Given the description of an element on the screen output the (x, y) to click on. 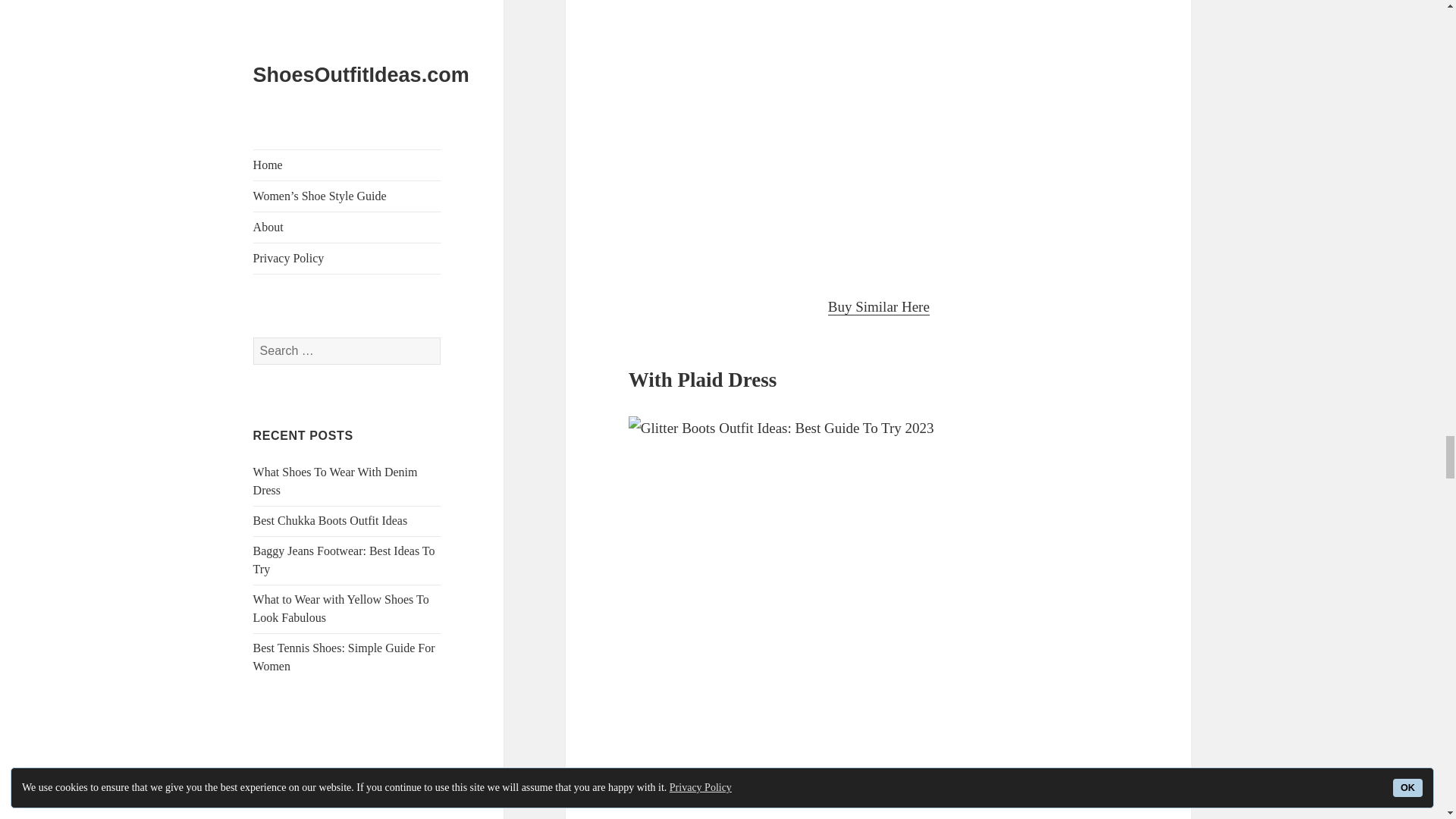
Buy Similar Here (879, 306)
